Given the description of an element on the screen output the (x, y) to click on. 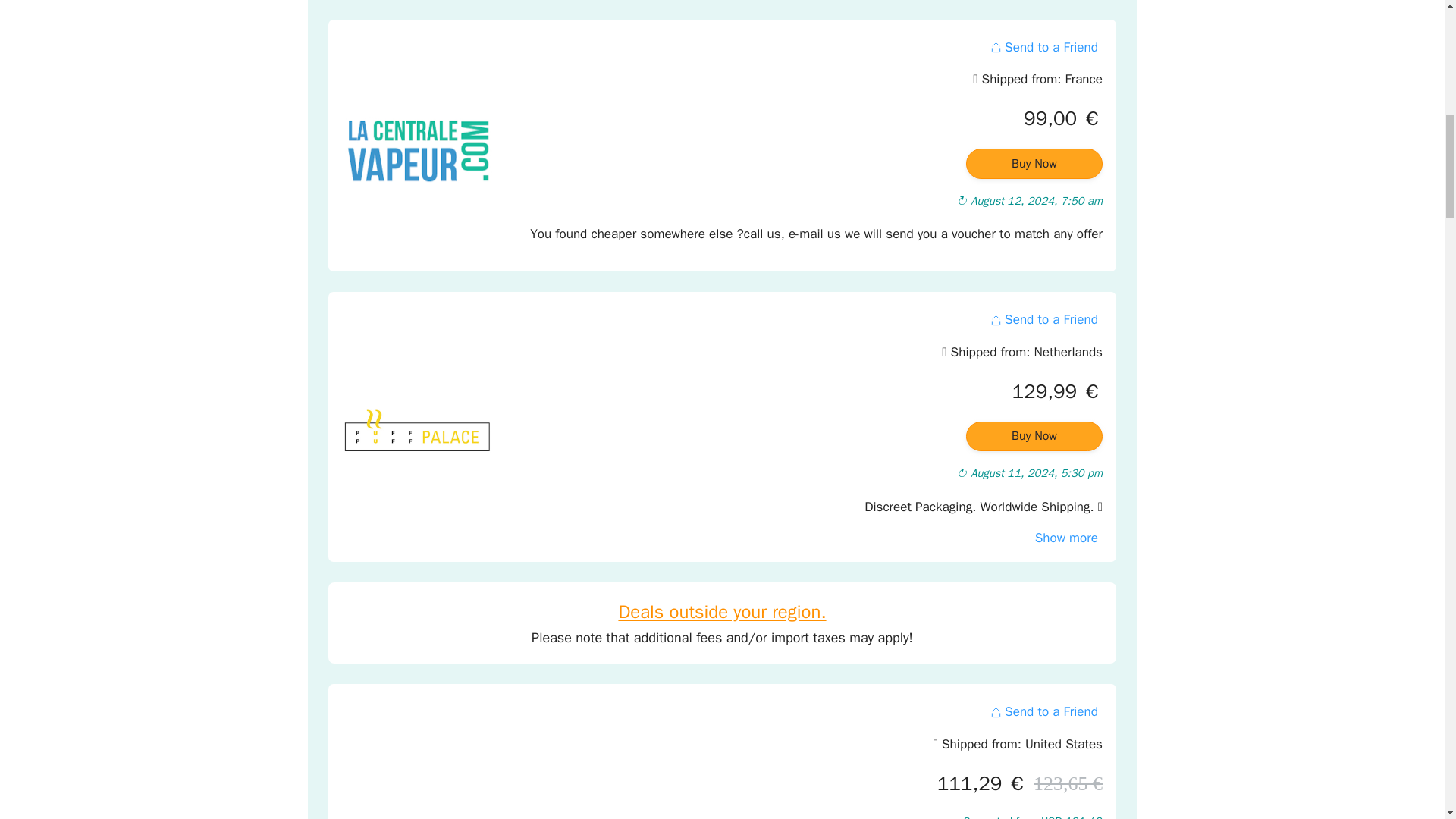
Show more (1066, 537)
Buy Now (1034, 163)
Lacentralevapeur.com (417, 149)
Send to a Friend (1043, 711)
Send to a Friend (1043, 47)
Puffpuffpalace.com (417, 430)
Buy Now (1034, 436)
Send to a Friend (1043, 319)
